Given the description of an element on the screen output the (x, y) to click on. 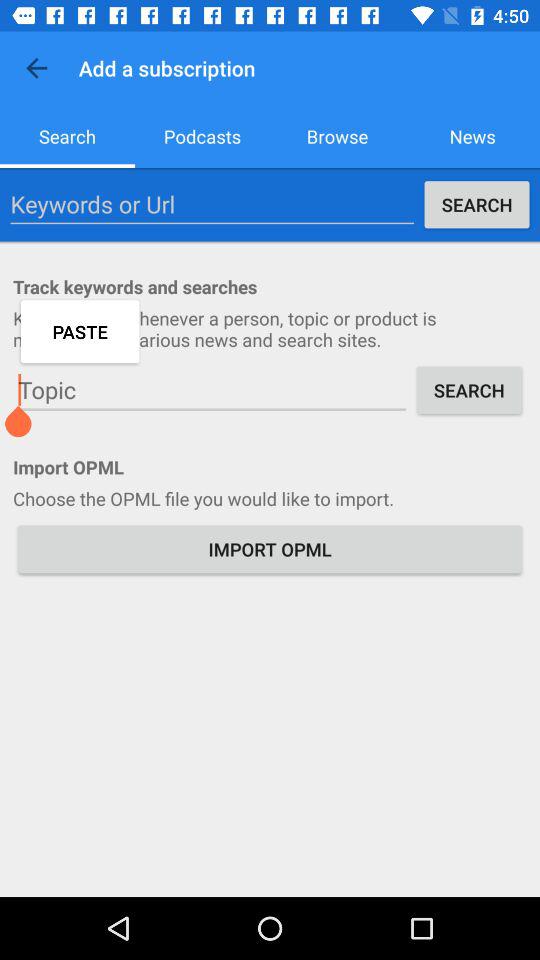
click the icon next to search (212, 204)
